Given the description of an element on the screen output the (x, y) to click on. 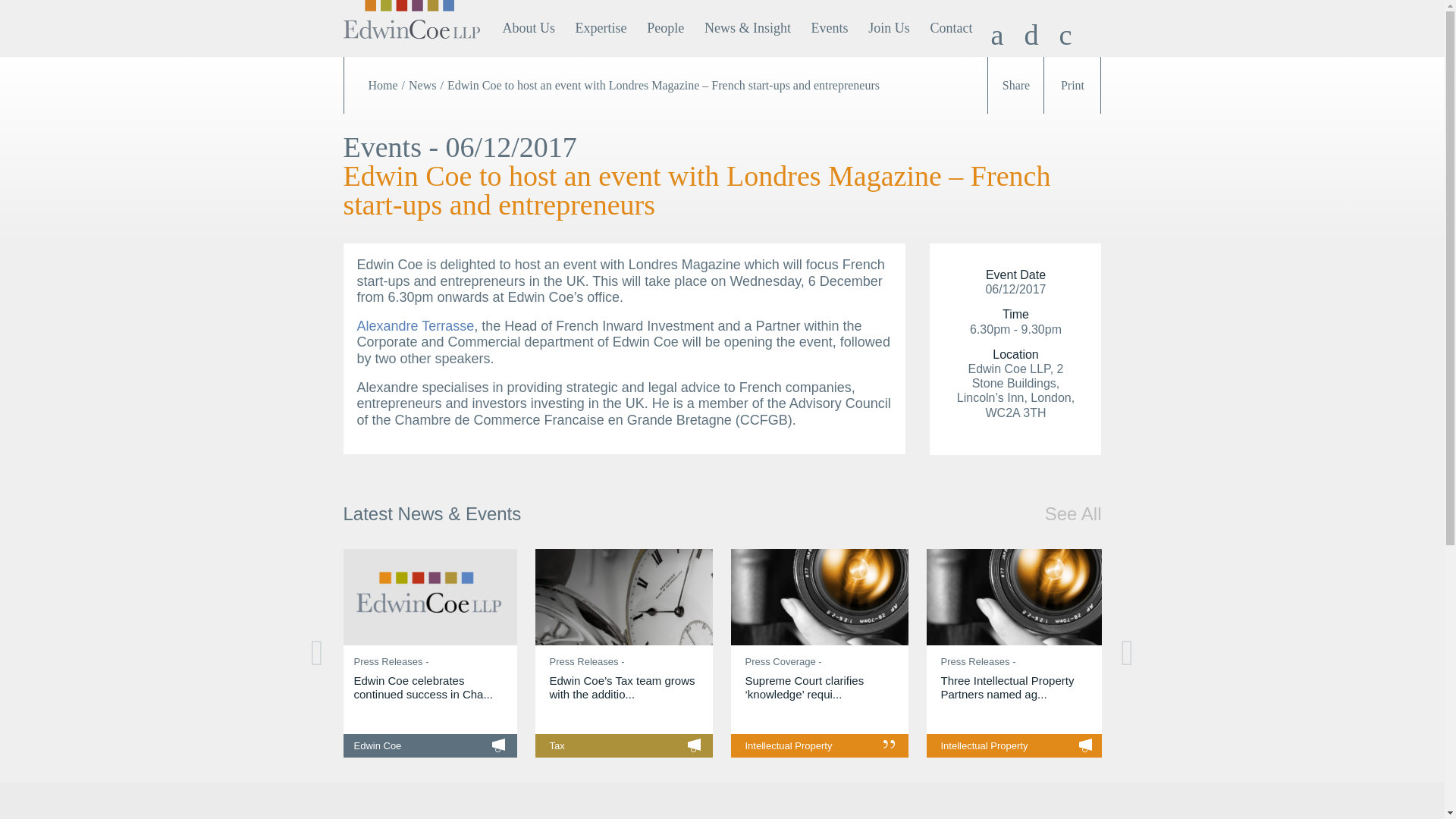
People (665, 28)
Join Us (888, 28)
Edwin Coe LLP (410, 43)
Contact (951, 28)
Events (829, 28)
About Us (528, 28)
Expertise (601, 28)
